Given the description of an element on the screen output the (x, y) to click on. 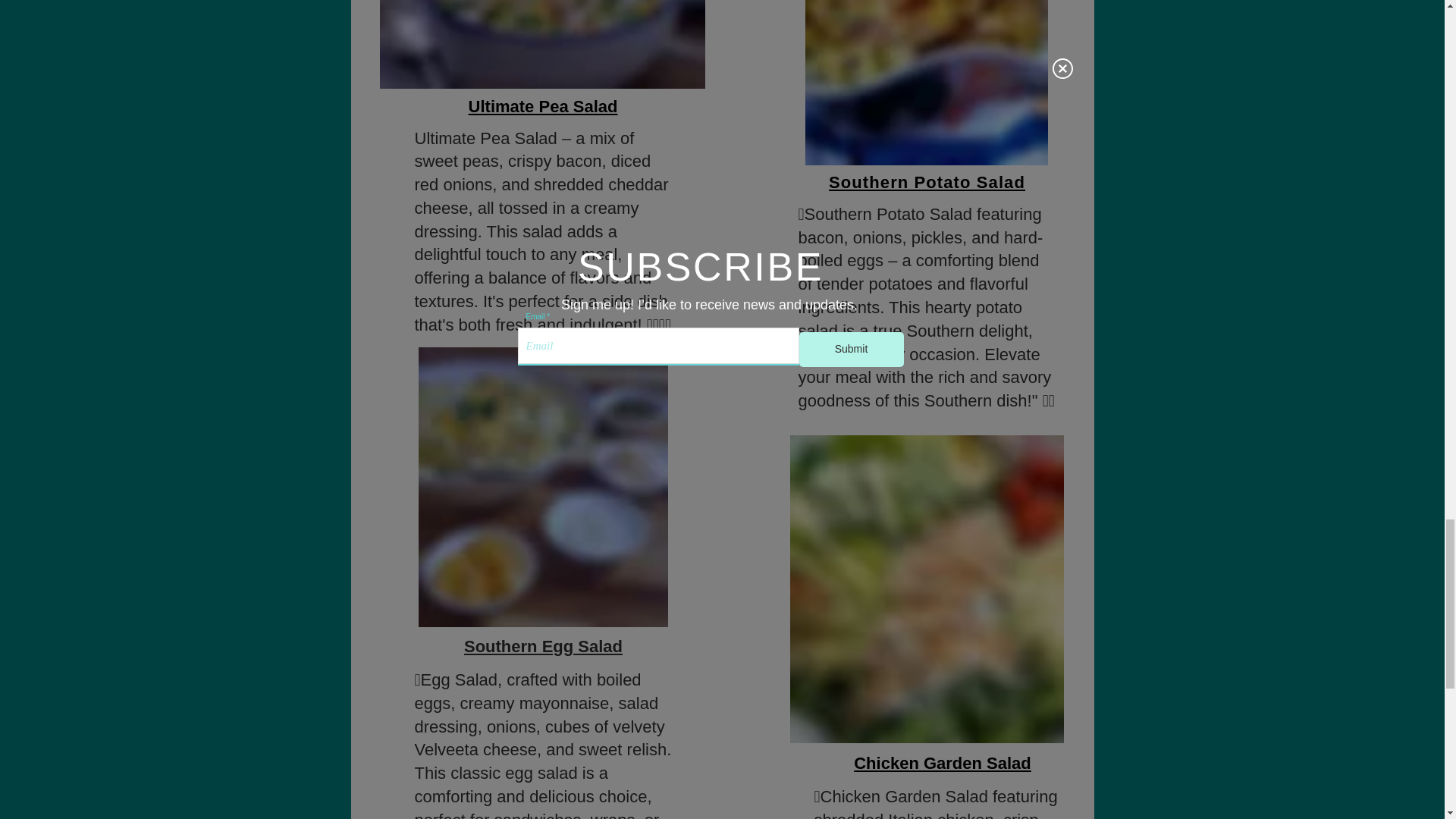
Southern Potato Salad (926, 82)
Ultimate Pea Salad (542, 106)
Southern Egg Salad (543, 646)
Chicken Garden Salad (941, 763)
Southern Potato Salad (926, 181)
Egg Salad Recipe (543, 487)
Chicken Garden Salad (927, 588)
Easy Pea Salad (541, 44)
